Given the description of an element on the screen output the (x, y) to click on. 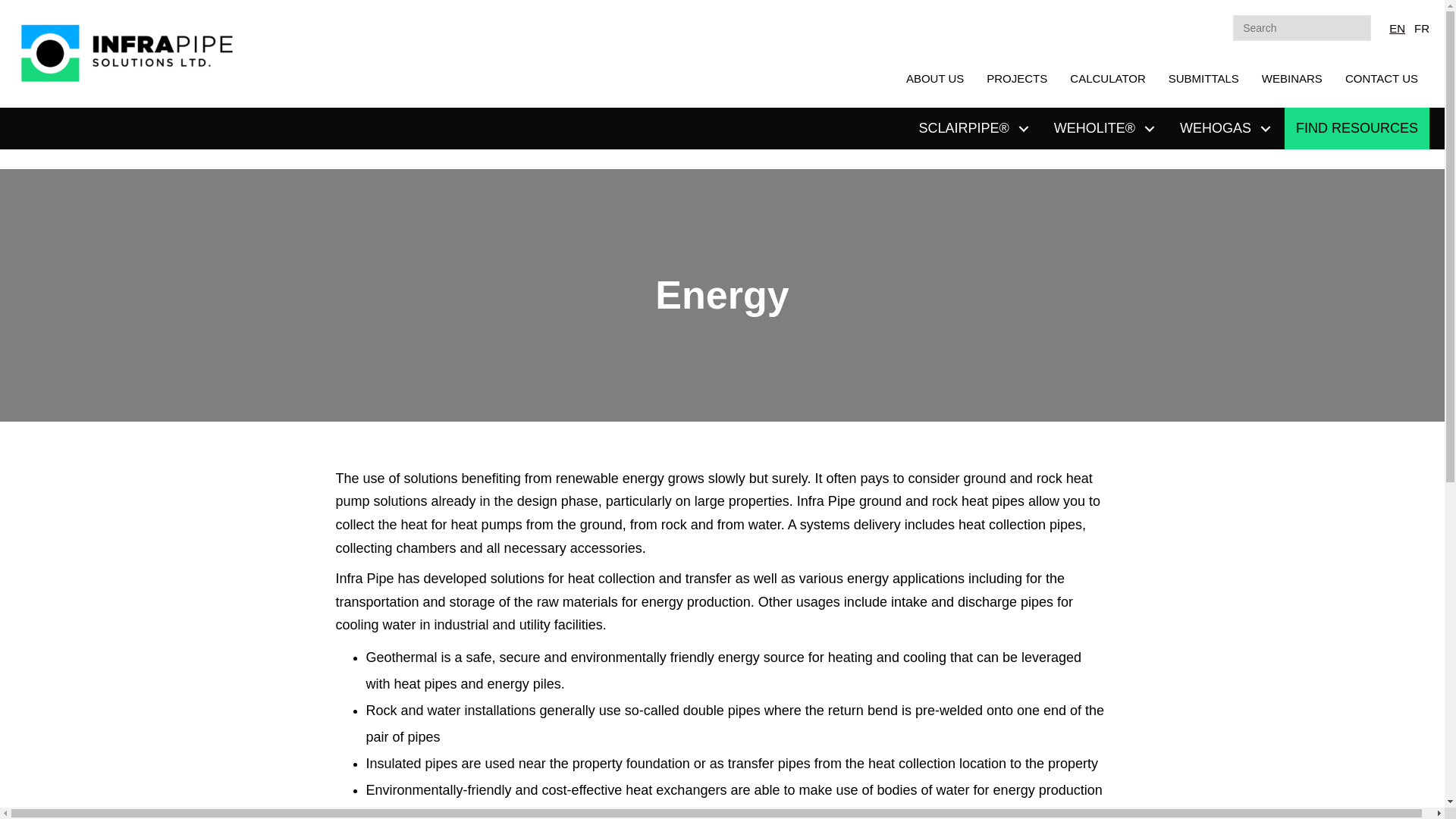
Search (1302, 27)
FIND RESOURCES (1356, 128)
portfolio-infrapipe-logo-colour (128, 54)
Type and press Enter to search. (1302, 28)
WEBINARS (1291, 78)
FR (1421, 28)
SUBMITTALS (1203, 78)
PROJECTS (1016, 78)
CONTACT US (1381, 78)
WEHOGAS (1226, 128)
Search (1302, 27)
CALCULATOR (1107, 78)
ABOUT US (935, 78)
